Given the description of an element on the screen output the (x, y) to click on. 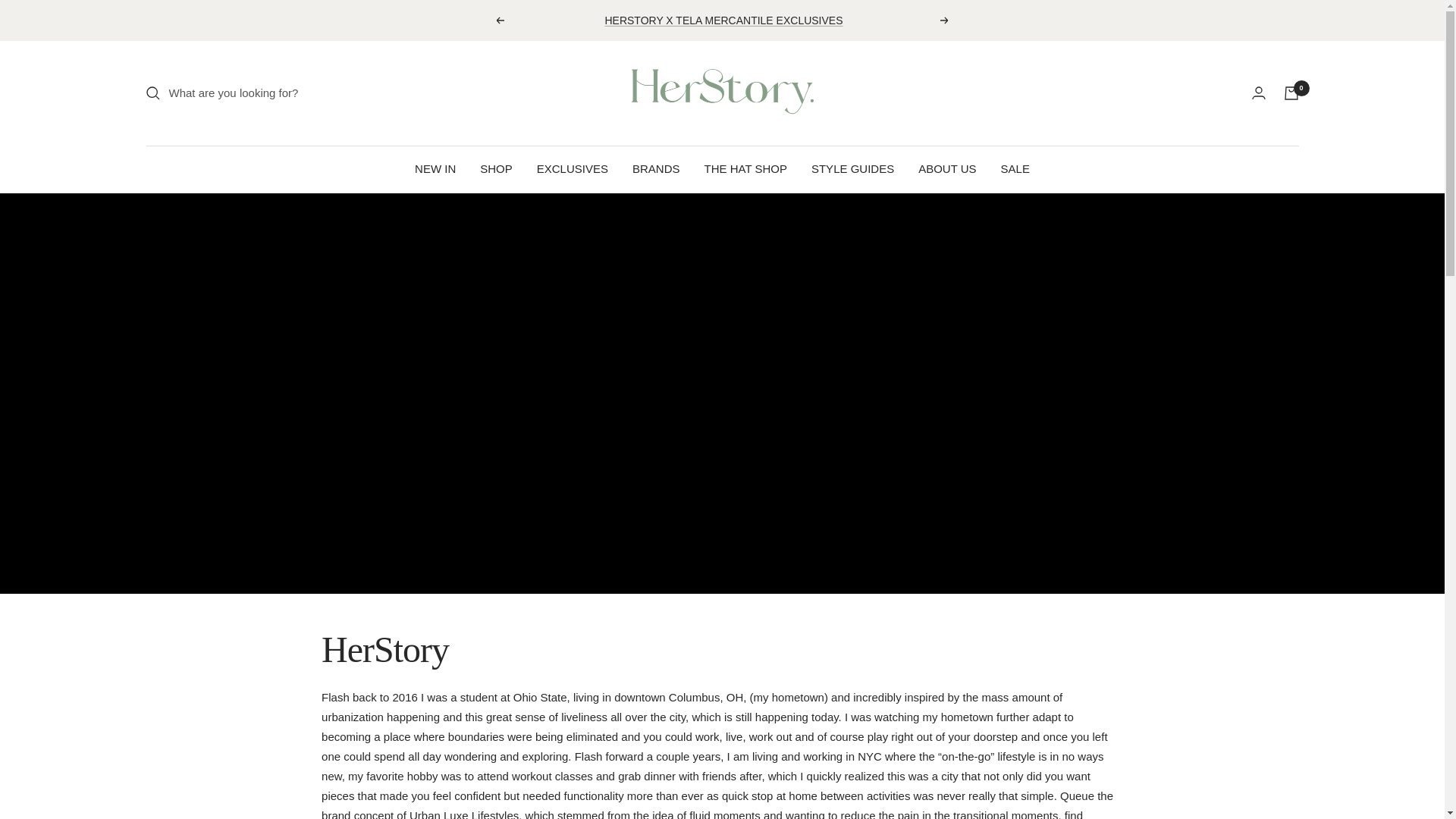
Herstory (721, 93)
SHOP (496, 168)
Next (944, 20)
HERSTORY X TELA MERCANTILE EXCLUSIVES (723, 20)
THE HAT SHOP (744, 168)
0 (1290, 92)
BRANDS (655, 168)
ABOUT US (946, 168)
NEW IN (434, 168)
EXCLUSIVES (572, 168)
STYLE GUIDES (851, 168)
Previous (499, 20)
SALE (1015, 168)
